Given the description of an element on the screen output the (x, y) to click on. 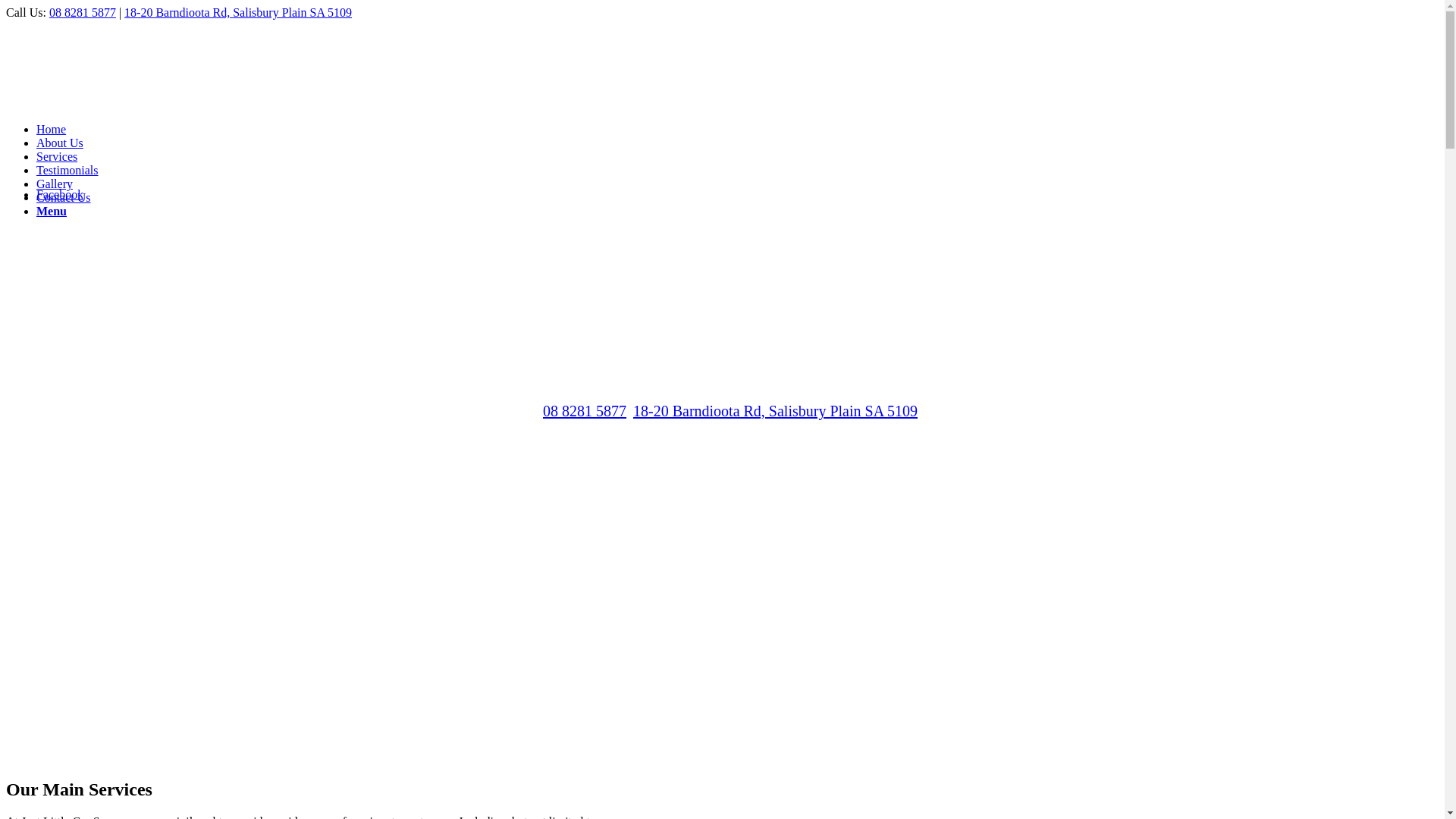
About Us Element type: text (59, 142)
08 8281 5877 Element type: text (82, 12)
Wreckers Element type: hover (309, 598)
Facebook Element type: text (59, 194)
18-20 Barndioota Rd, Salisbury Plain SA 5109 Element type: text (775, 410)
Services Element type: text (56, 156)
18-20 Barndioota Rd, Salisbury Plain SA 5109 Element type: text (237, 12)
Gallery Element type: text (54, 183)
Home Element type: text (50, 128)
Menu Element type: text (51, 210)
Testimonials Element type: text (67, 169)
08 8281 5877 Element type: text (584, 410)
Contact Us Element type: text (63, 197)
